Given the description of an element on the screen output the (x, y) to click on. 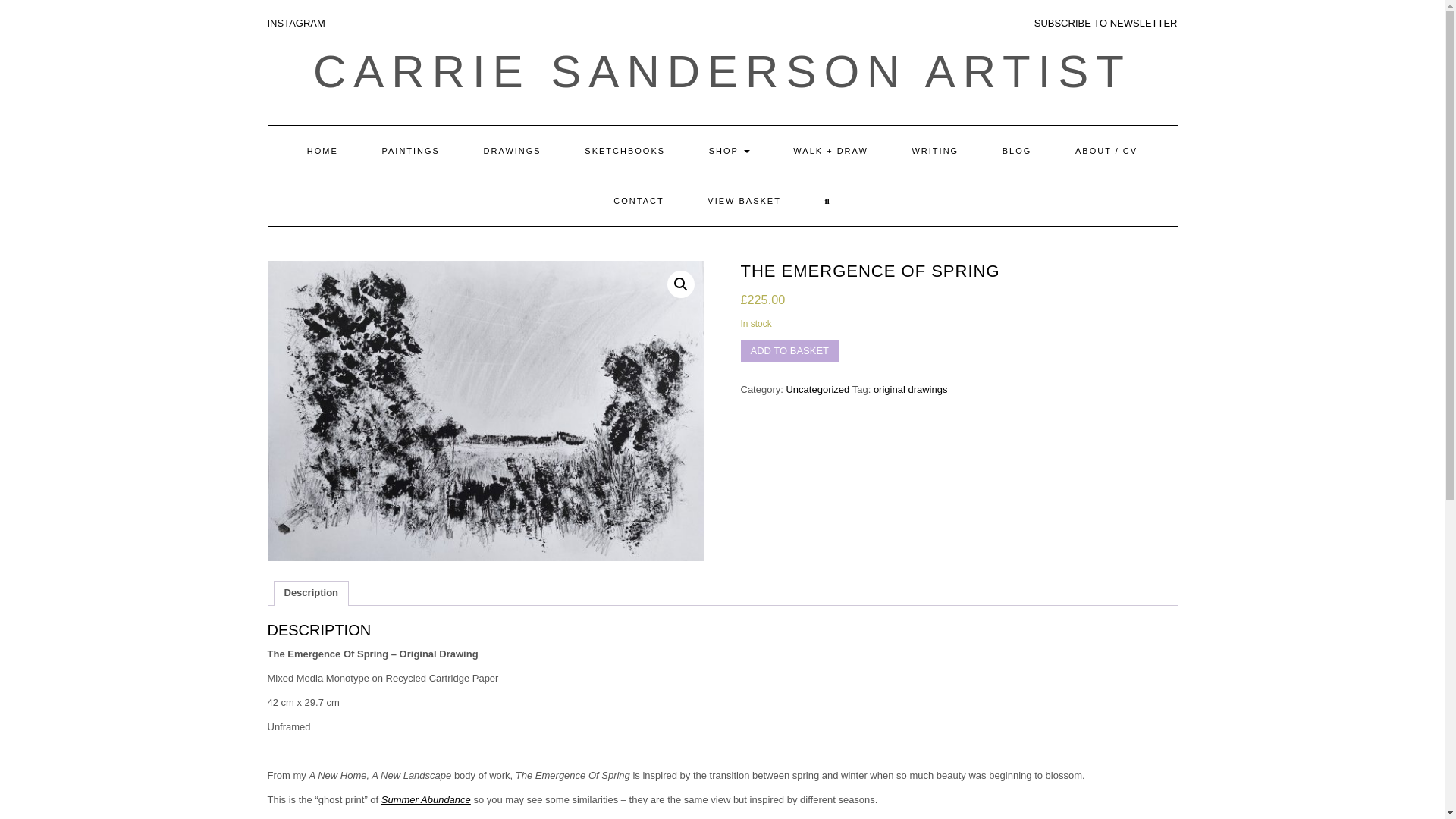
WRITING (934, 151)
ADD TO BASKET (788, 350)
CONTACT (638, 201)
SUBSCRIBE TO NEWSLETTER (1105, 22)
INSTAGRAM (295, 22)
PAINTINGS (410, 151)
Summer Abundance (425, 799)
Uncategorized (817, 389)
Description (310, 593)
original drawings (910, 389)
CARRIE SANDERSON ARTIST (722, 71)
SKETCHBOOKS (624, 151)
VIEW BASKET (744, 201)
SHOP (729, 151)
